Given the description of an element on the screen output the (x, y) to click on. 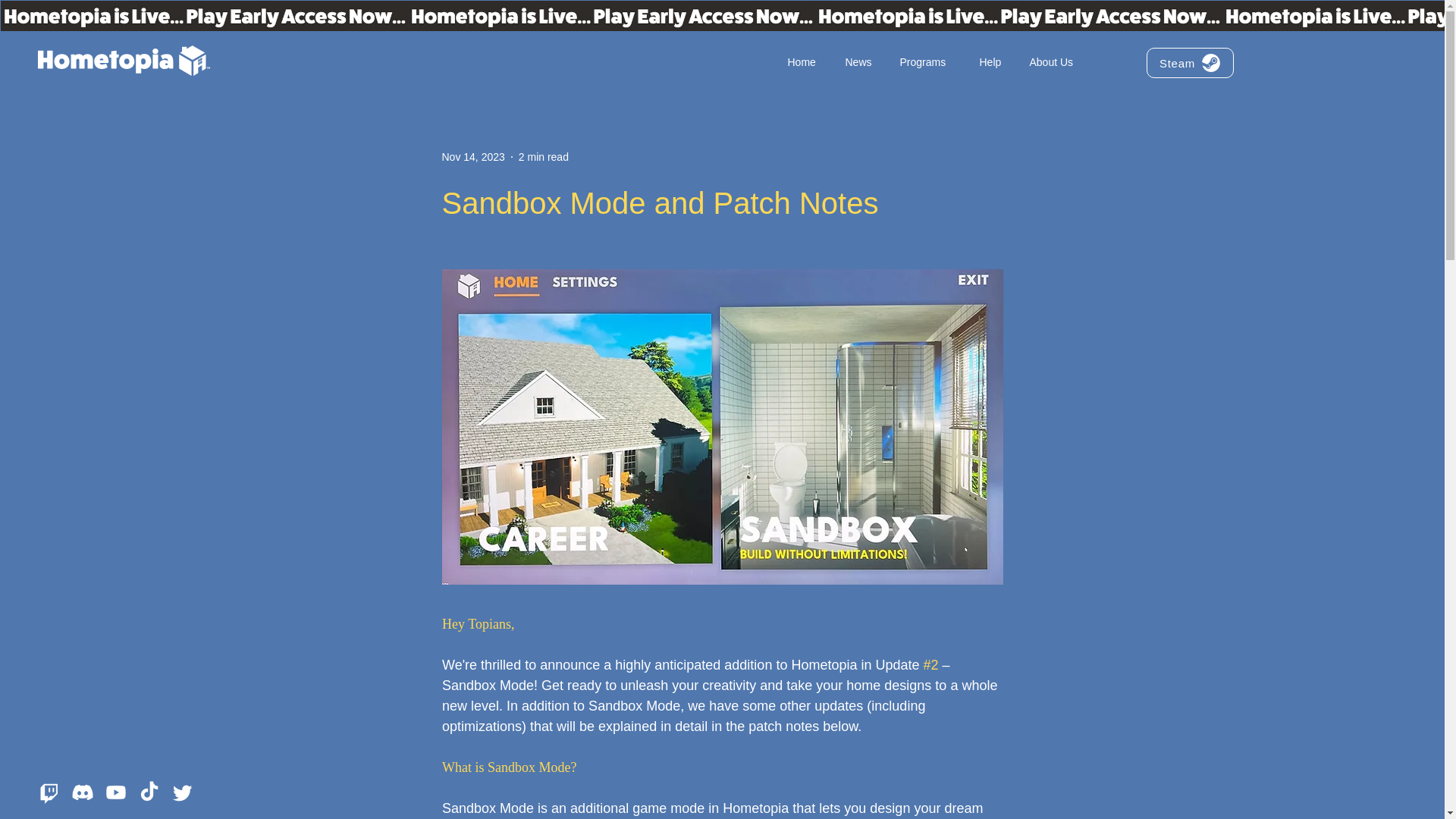
Nov 14, 2023 (472, 155)
About Us (1055, 62)
2 min read (543, 155)
News (861, 62)
Home (805, 62)
